Given the description of an element on the screen output the (x, y) to click on. 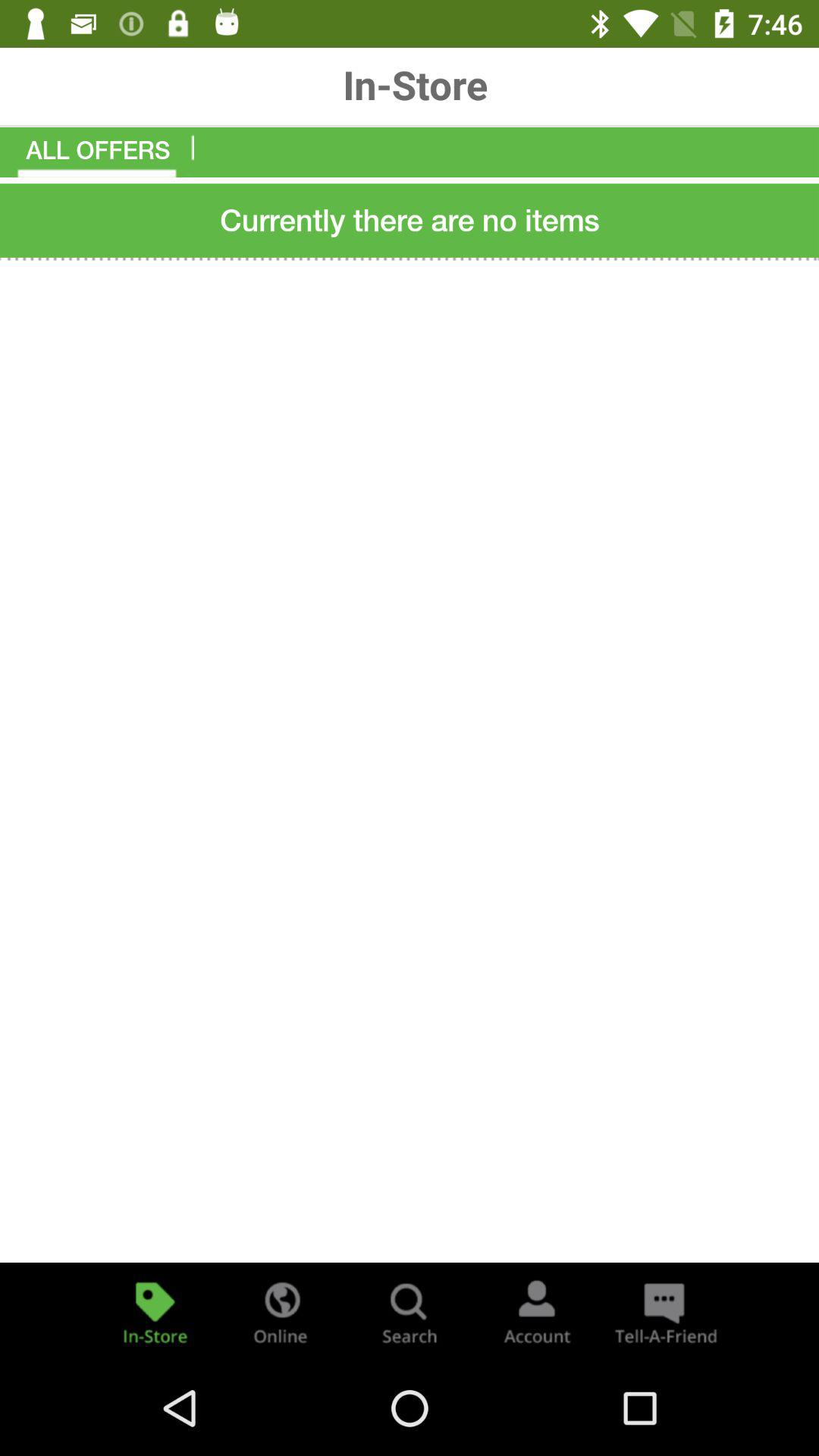
toggle search feature (409, 1311)
